Given the description of an element on the screen output the (x, y) to click on. 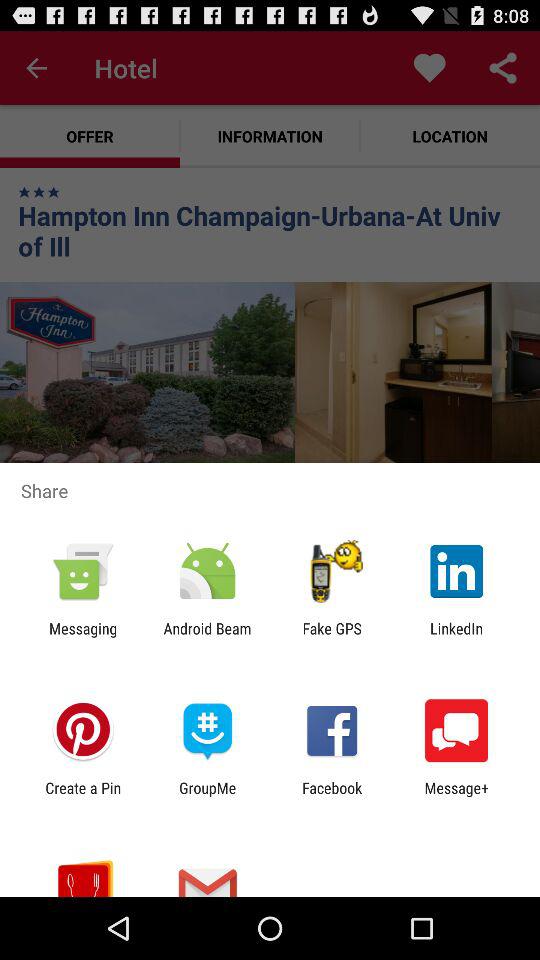
press the app next to the fake gps item (207, 637)
